Given the description of an element on the screen output the (x, y) to click on. 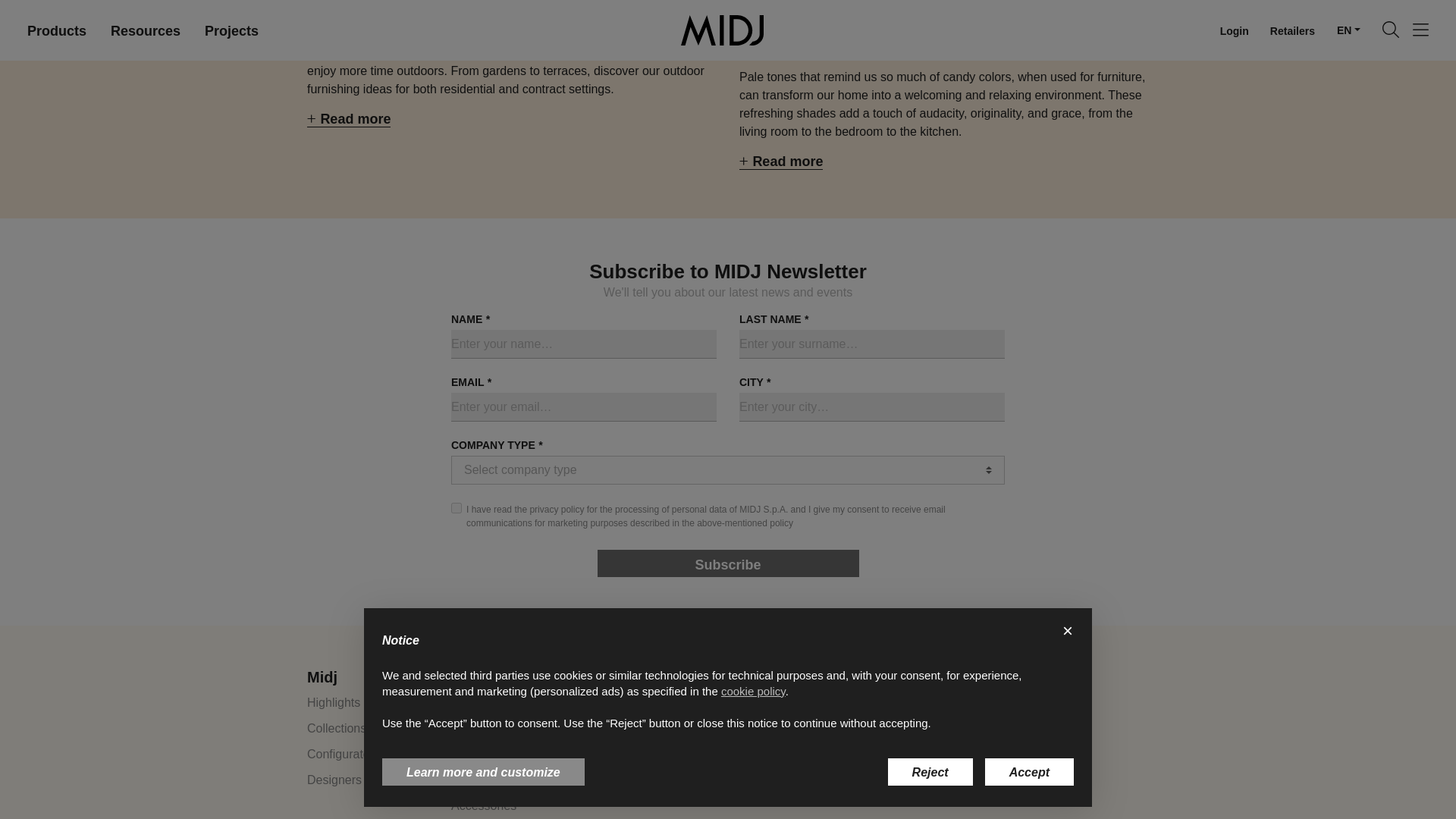
Tipo Azienda (727, 469)
